Given the description of an element on the screen output the (x, y) to click on. 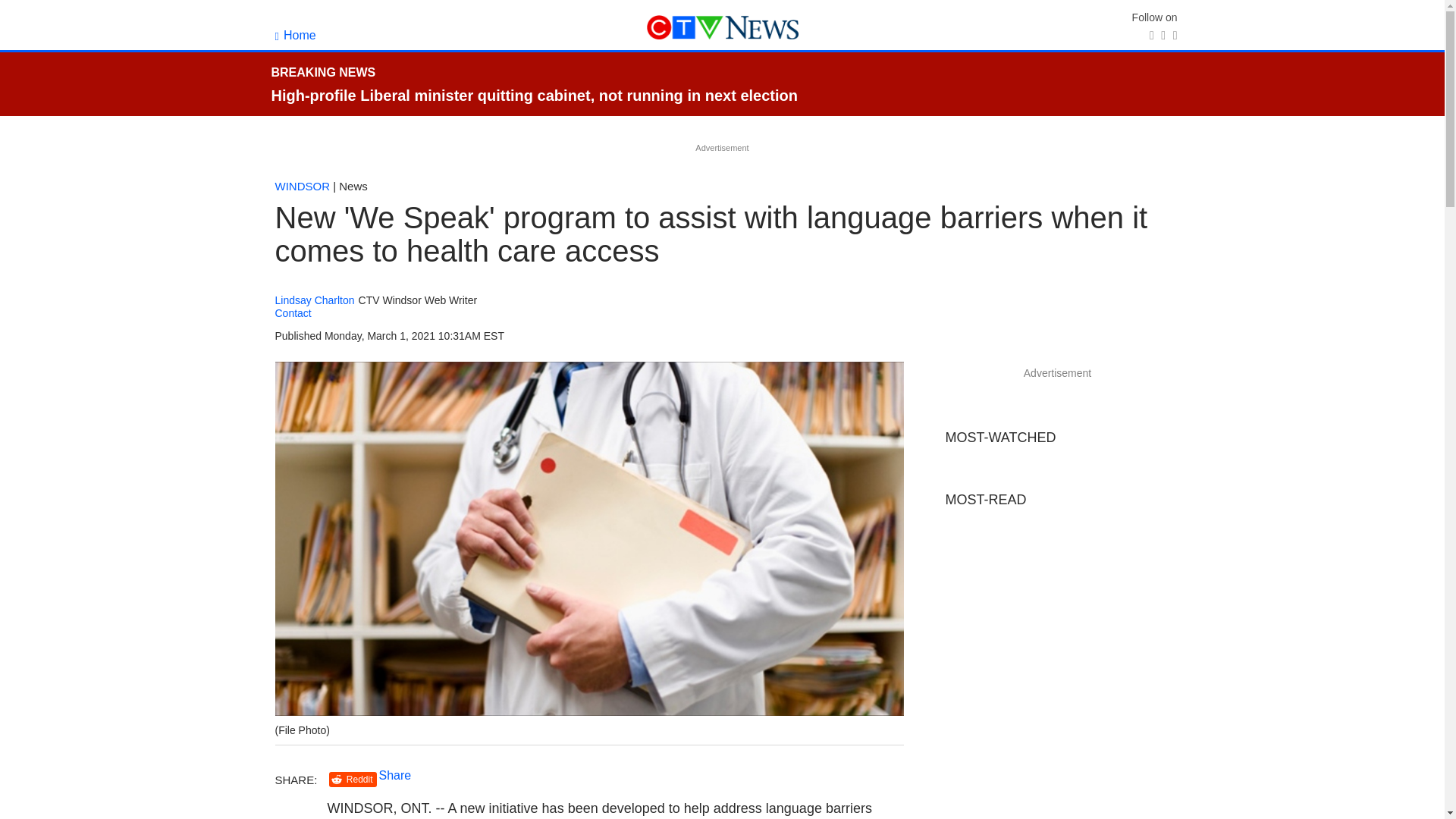
Home (295, 34)
Share (395, 775)
Contact (293, 313)
WINDSOR (302, 185)
Reddit (353, 779)
Lindsay Charlton (314, 300)
